Given the description of an element on the screen output the (x, y) to click on. 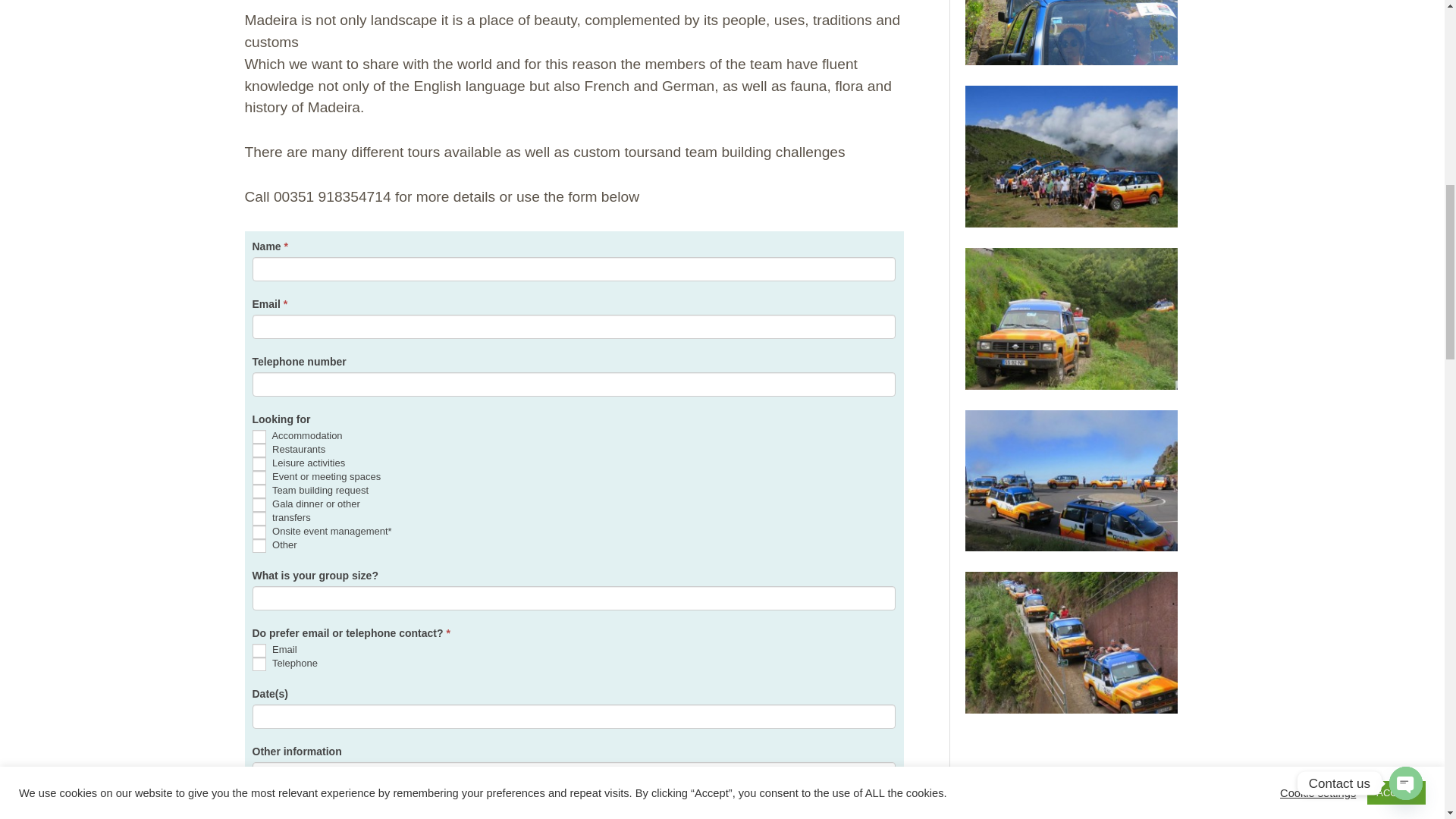
Email (257, 650)
Event or meeting spaces (257, 477)
Gala dinner or other (257, 504)
Other (257, 545)
Leisure activities (257, 463)
transfers (257, 518)
Team building request (257, 490)
Restaurants (257, 450)
Accommodation (257, 436)
Telephone (257, 663)
